Given the description of an element on the screen output the (x, y) to click on. 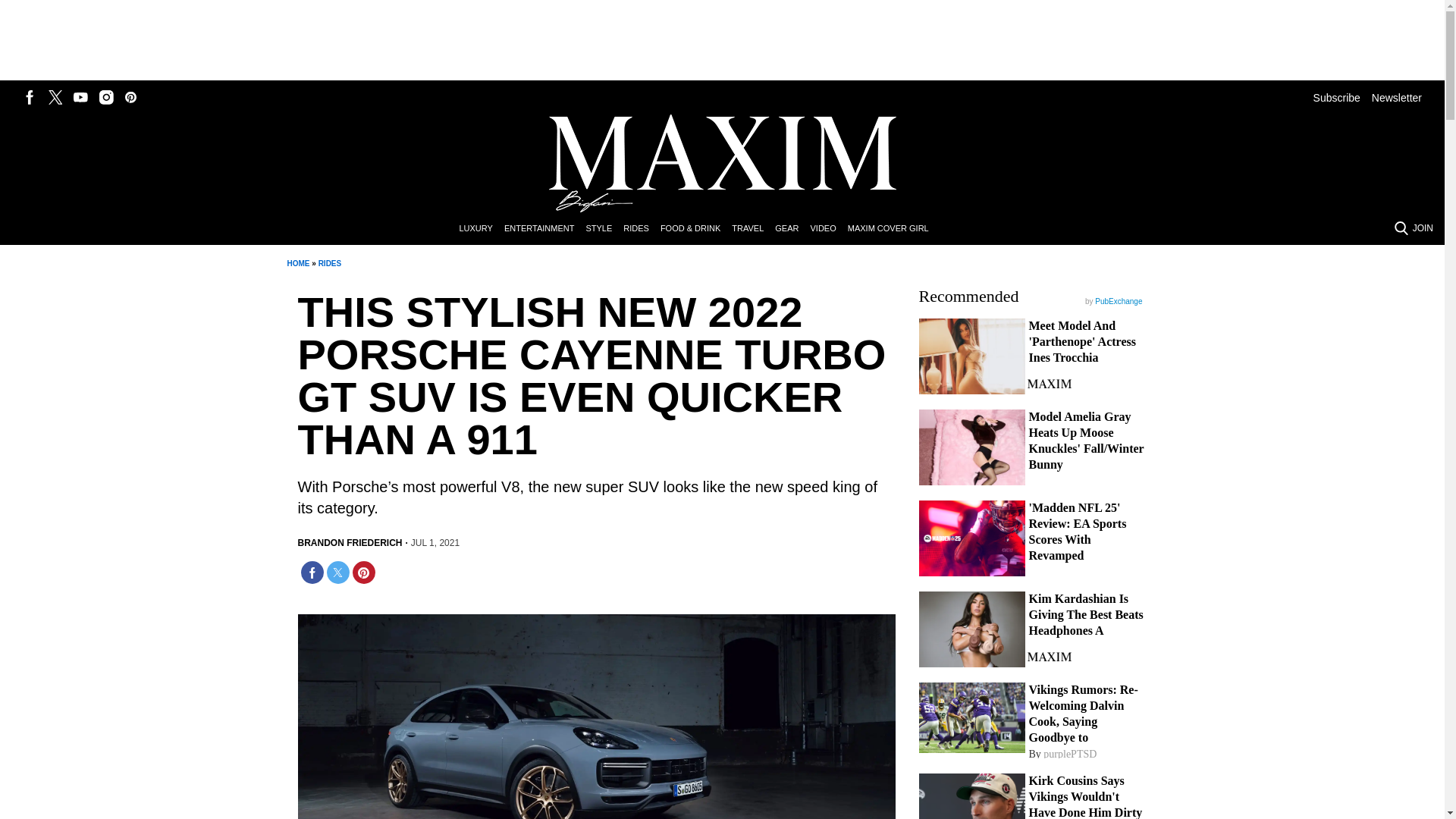
ENTERTAINMENT (544, 228)
MAXIM COVER GIRL (893, 228)
Follow us on Instagram (106, 97)
Follow us on Facebook (30, 97)
HOME (297, 263)
Posts by Brandon Friederich (349, 543)
GEAR (791, 228)
RIDES (330, 263)
Share on Twitter (337, 572)
Newsletter (1396, 97)
